Given the description of an element on the screen output the (x, y) to click on. 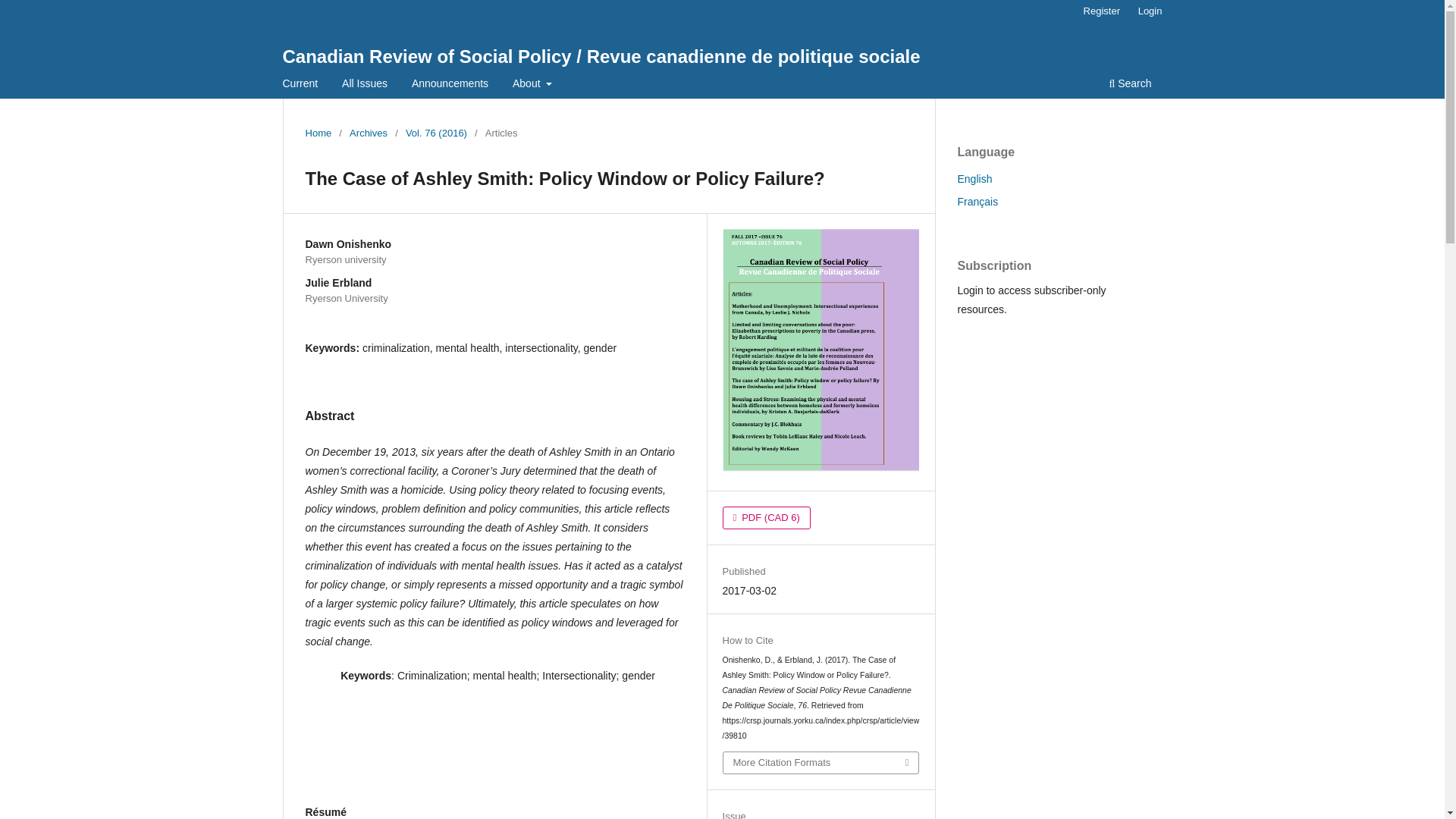
English (973, 178)
All Issues (364, 85)
Home (317, 133)
About (531, 85)
Login (1150, 11)
Register (1100, 11)
Search (1129, 85)
Announcements (449, 85)
Archives (368, 133)
Current (300, 85)
